Given the description of an element on the screen output the (x, y) to click on. 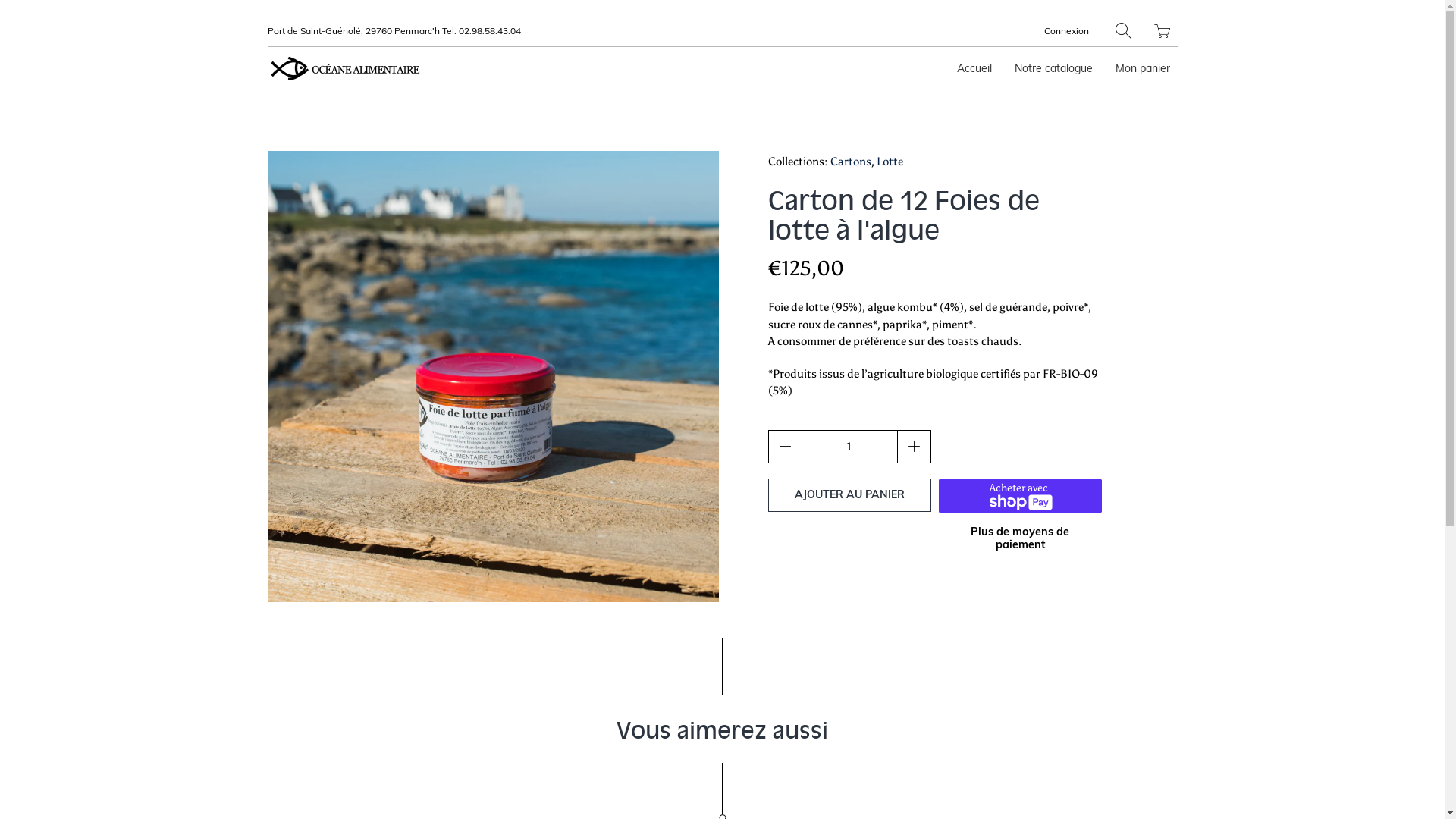
Plus de moyens de paiement Element type: text (1019, 529)
Rechercher Element type: hover (1122, 30)
Mon panier Element type: text (1141, 68)
Cartons Element type: text (849, 161)
Accueil Element type: text (974, 68)
Translation missing: fr.layout.general.title Element type: text (1161, 30)
Connexion Element type: text (1065, 29)
AJOUTER AU PANIER Element type: text (848, 494)
Notre catalogue Element type: text (1053, 68)
Lotte Element type: text (889, 161)
